Given the description of an element on the screen output the (x, y) to click on. 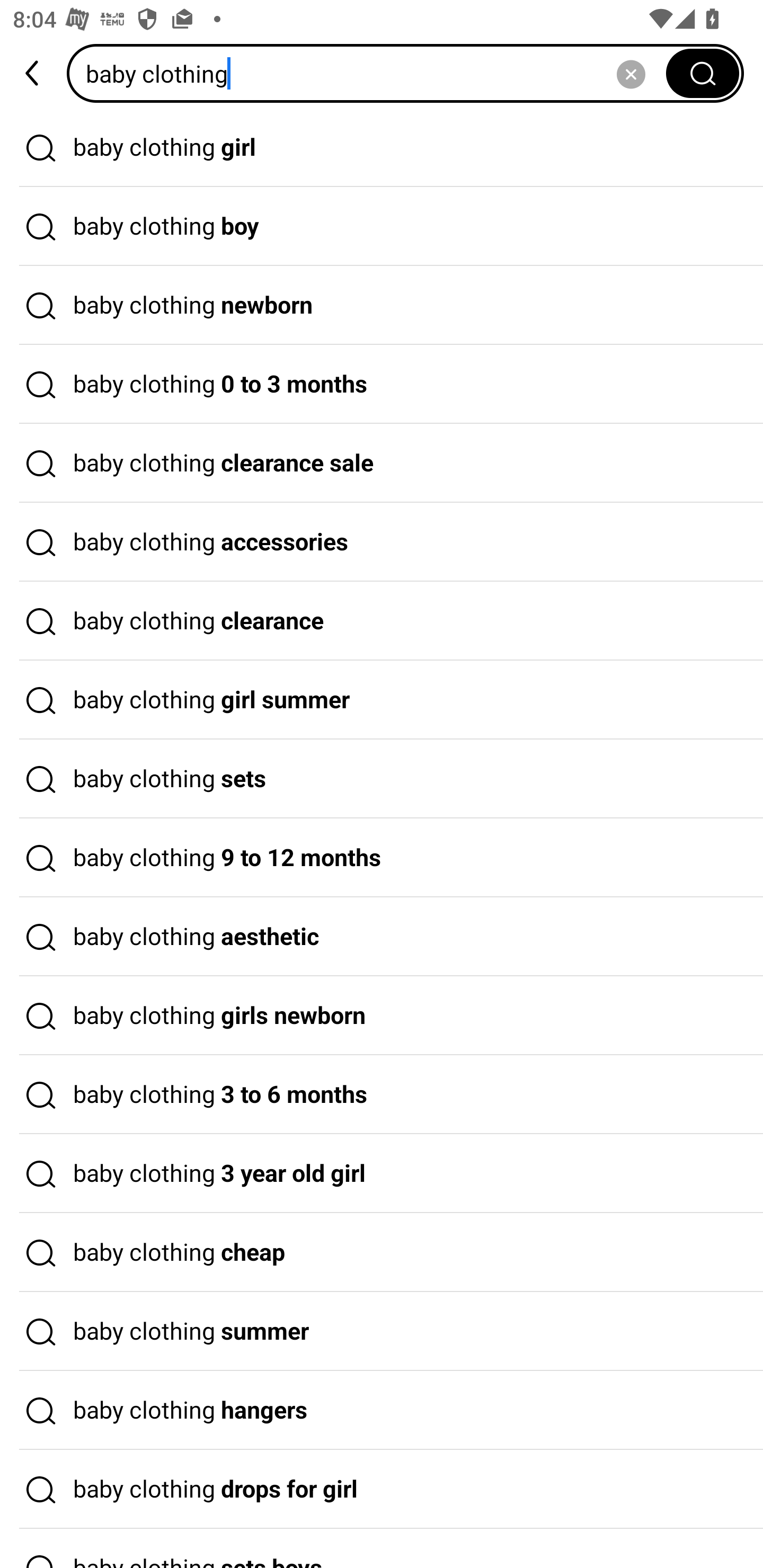
back (33, 72)
baby clothing (372, 73)
Delete search history (630, 73)
baby clothing girl (381, 147)
baby clothing boy (381, 226)
baby clothing newborn (381, 305)
baby clothing 0 to 3 months (381, 383)
baby clothing clearance sale (381, 463)
baby clothing accessories (381, 542)
baby clothing clearance (381, 620)
baby clothing girl summer (381, 700)
baby clothing sets (381, 779)
baby clothing 9 to 12 months (381, 857)
baby clothing aesthetic (381, 936)
baby clothing girls newborn (381, 1015)
baby clothing 3 to 6 months (381, 1094)
baby clothing 3 year old girl (381, 1173)
baby clothing cheap (381, 1252)
baby clothing summer (381, 1331)
baby clothing hangers (381, 1410)
baby clothing drops for girl (381, 1489)
